Given the description of an element on the screen output the (x, y) to click on. 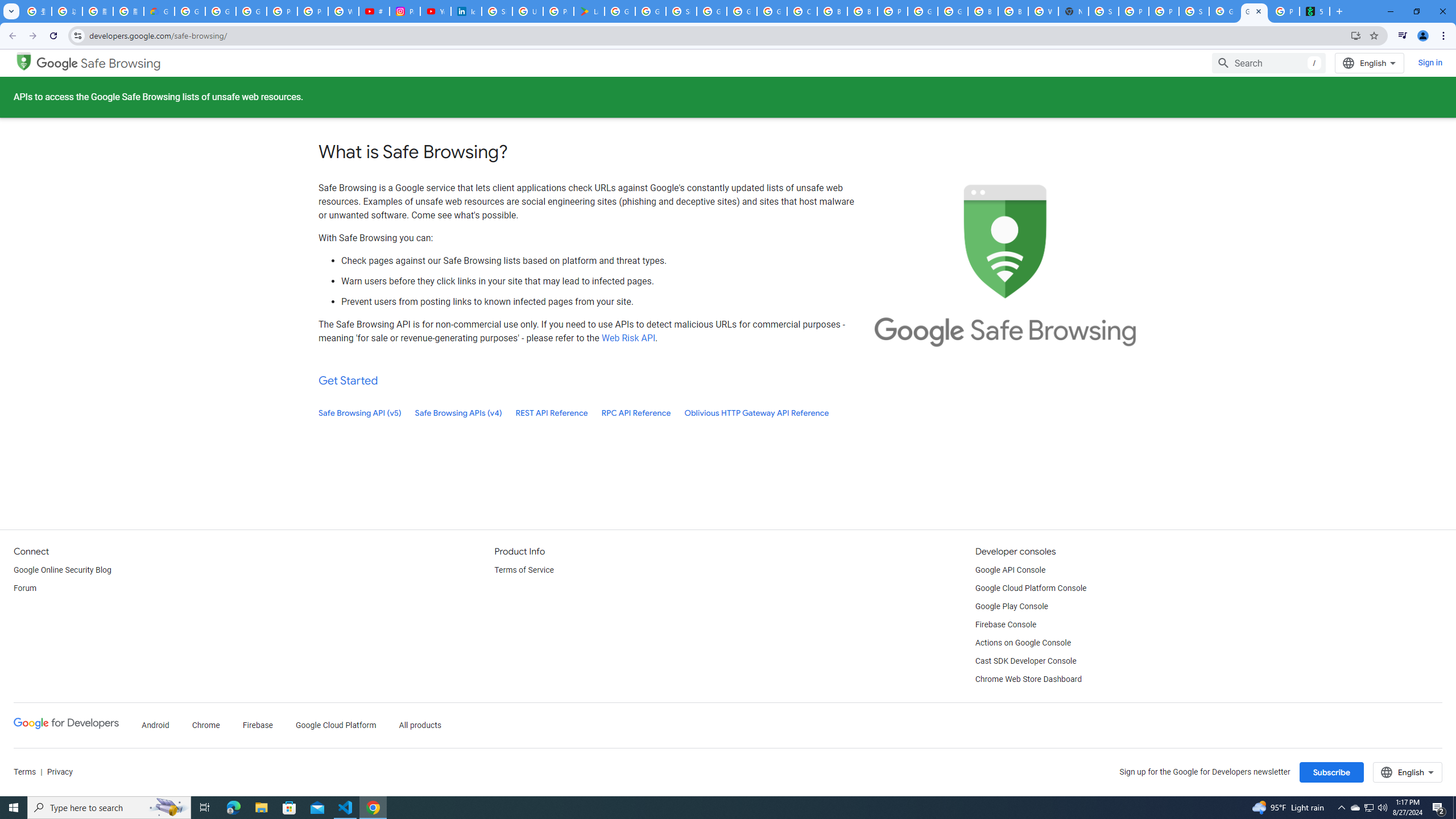
Google Safe Browsing (23, 60)
#nbabasketballhighlights - YouTube (373, 11)
Terms of Service (523, 570)
Browse Chrome as a guest - Computer - Google Chrome Help (1012, 11)
New Tab (1072, 11)
Google Cloud Platform (922, 11)
